Given the description of an element on the screen output the (x, y) to click on. 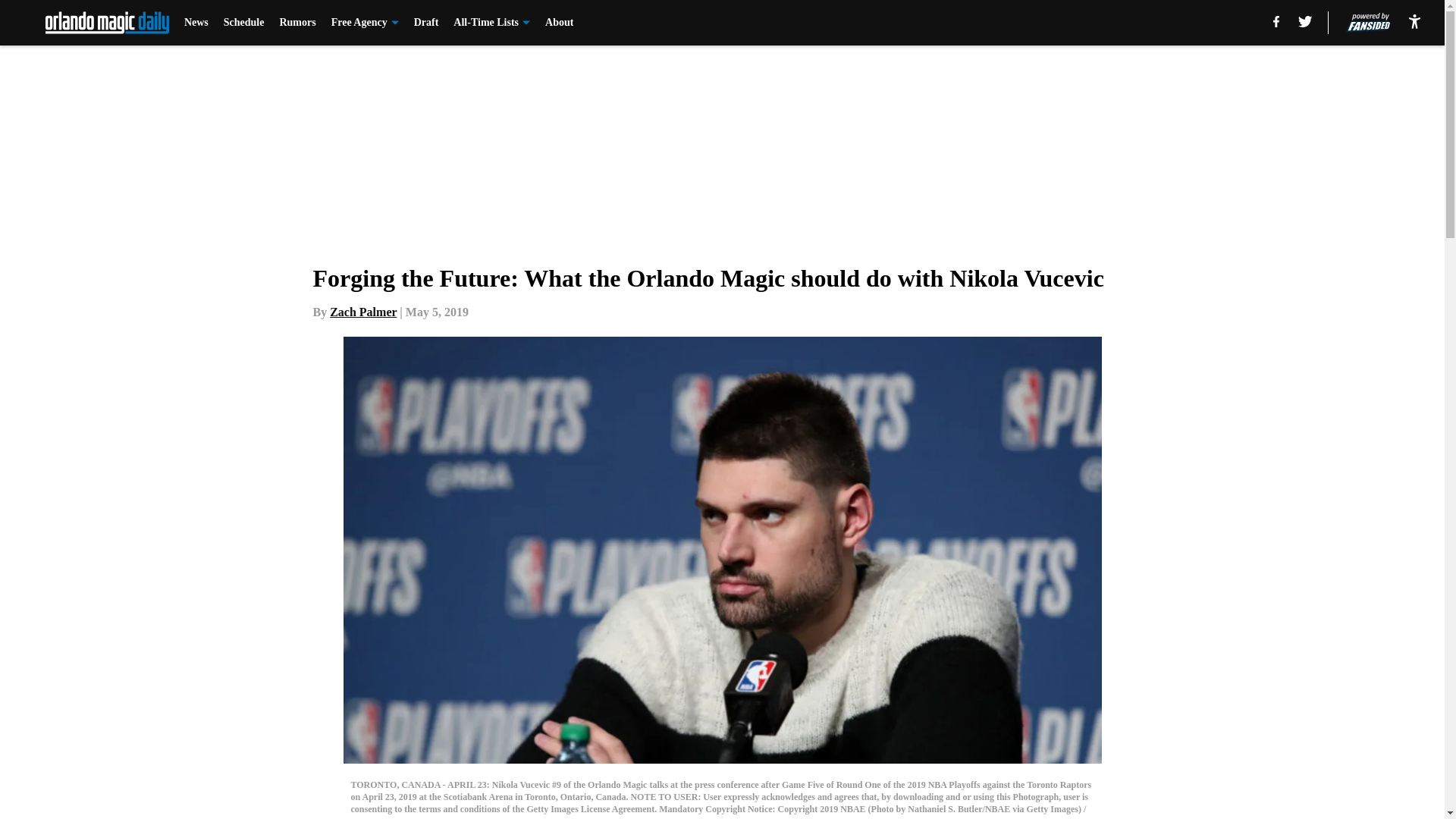
About (558, 22)
News (196, 22)
Schedule (244, 22)
Free Agency (364, 22)
Rumors (297, 22)
Zach Palmer (363, 311)
All-Time Lists (490, 22)
Draft (426, 22)
